Given the description of an element on the screen output the (x, y) to click on. 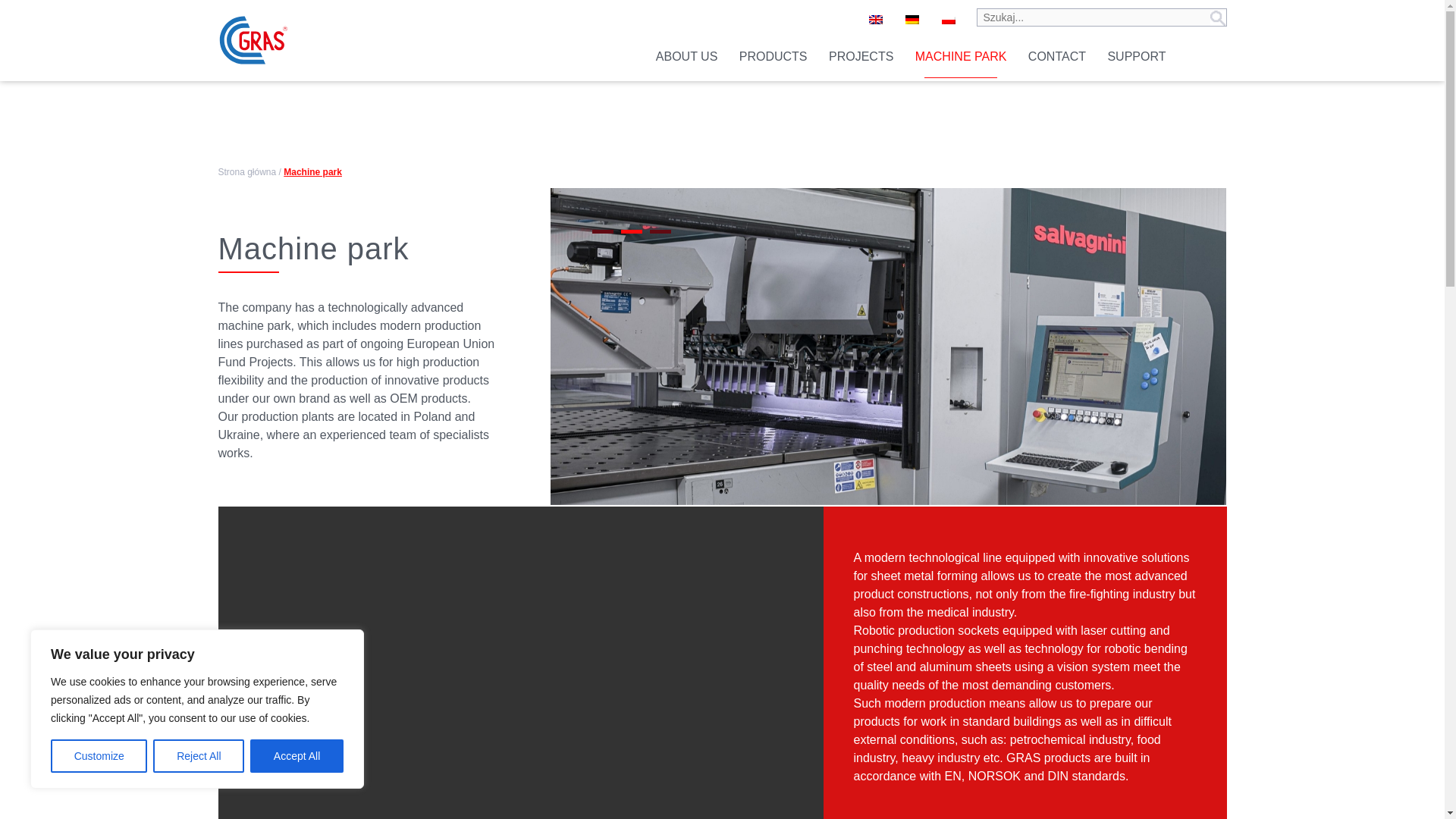
MACHINE PARK (961, 56)
CONTACT (1056, 56)
2 (631, 230)
PRODUCTS (773, 56)
Accept All (296, 756)
3 (660, 230)
Customize (98, 756)
SUPPORT (1136, 56)
1 (602, 230)
ABOUT US (686, 56)
